Given the description of an element on the screen output the (x, y) to click on. 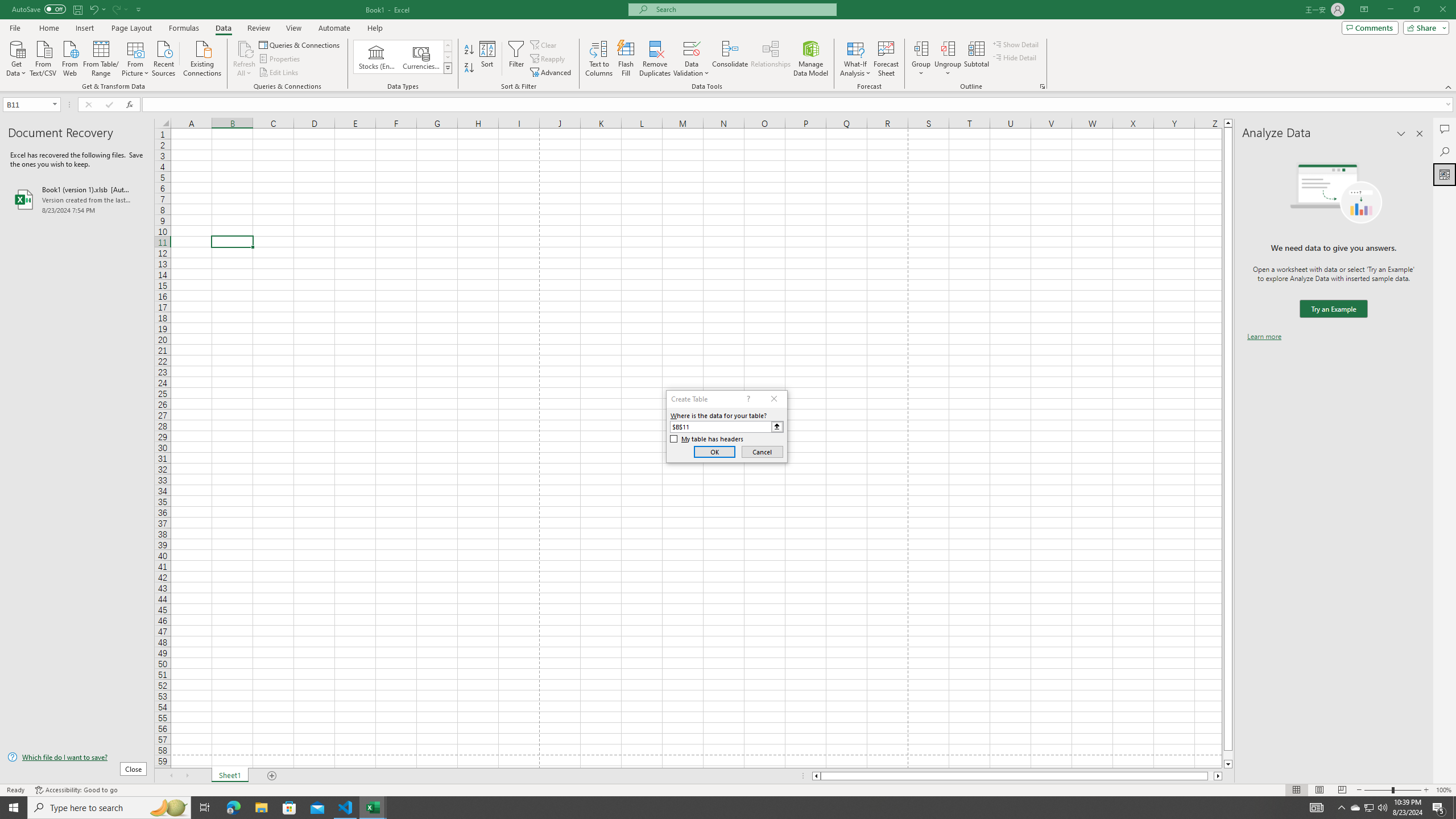
Relationships (770, 58)
